Given the description of an element on the screen output the (x, y) to click on. 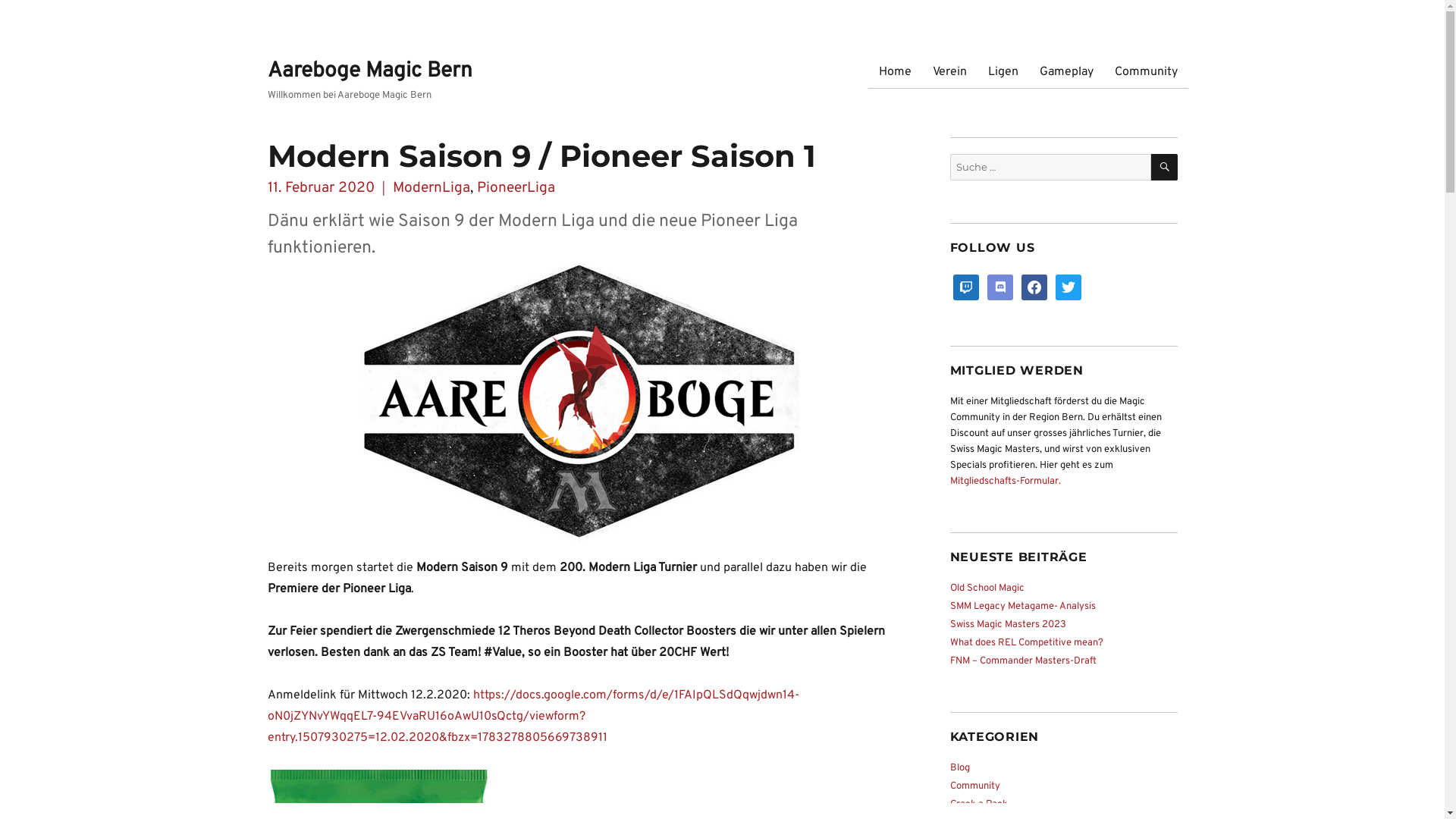
Community Element type: text (1146, 71)
ModernLiga Element type: text (431, 187)
Gameplay Element type: text (1065, 71)
Swiss Magic Masters 2023 Element type: text (1007, 624)
Blog Element type: text (959, 768)
twitch Element type: text (965, 287)
Home Element type: text (894, 71)
SMM Legacy Metagame- Analysis Element type: text (1022, 606)
Verein Element type: text (949, 71)
facebook Element type: text (1033, 287)
Ligen Element type: text (1002, 71)
PioneerLiga Element type: text (515, 187)
SUCHEN Element type: text (1164, 166)
twitter Element type: text (1068, 287)
Old School Magic Element type: text (986, 588)
Crack a Pack Element type: text (978, 804)
11. Februar 2020 Element type: text (319, 187)
discord Element type: text (1000, 287)
Aareboge Magic Bern Element type: text (368, 70)
Mitgliedschafts-Formular. Element type: text (1004, 481)
What does REL Competitive mean? Element type: text (1025, 643)
Community Element type: text (974, 786)
